Given the description of an element on the screen output the (x, y) to click on. 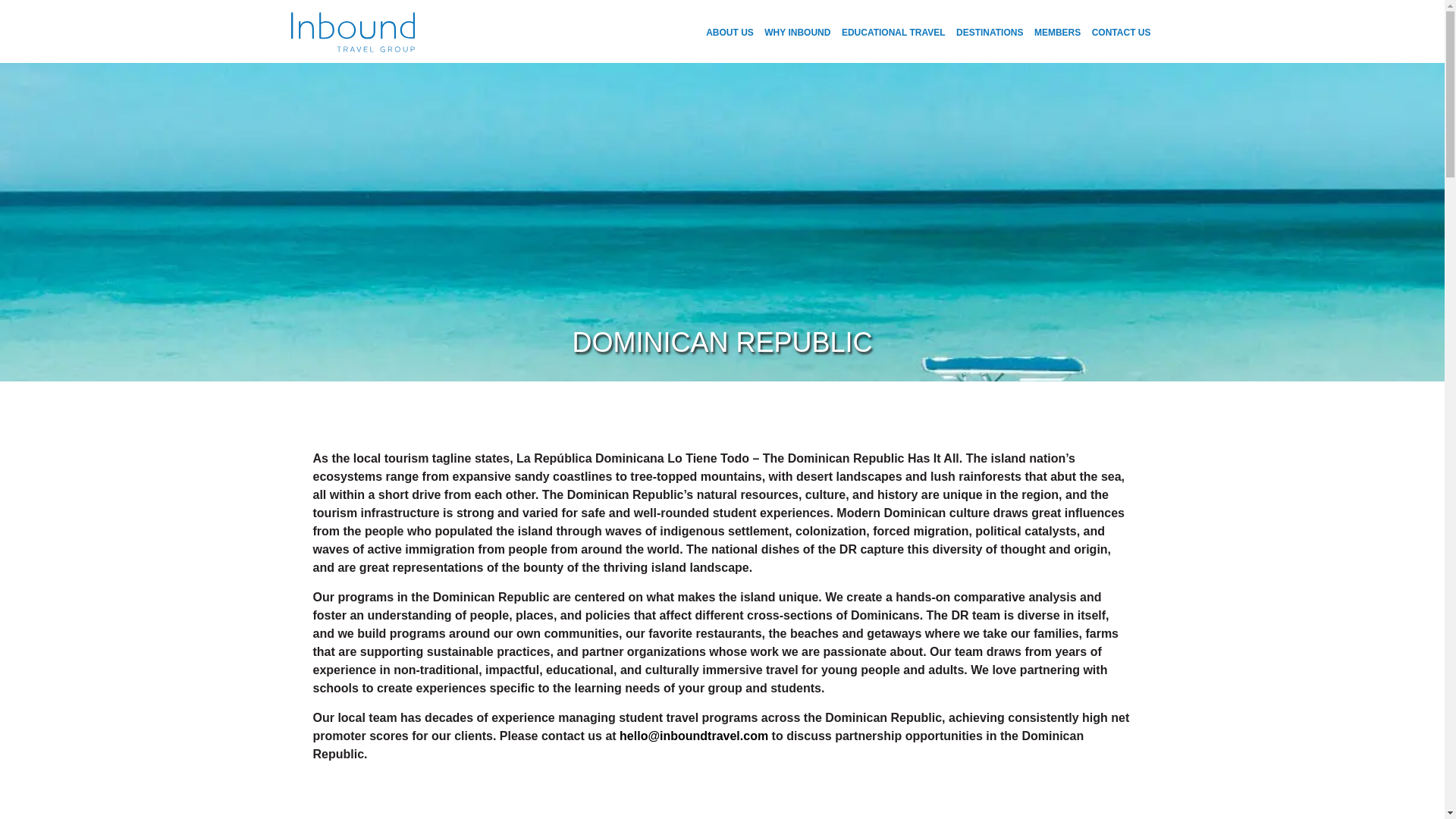
WHY INBOUND (796, 32)
DESTINATIONS (989, 32)
EDUCATIONAL TRAVEL (892, 32)
ABOUT US (730, 32)
MEMBERS (1056, 32)
CONTACT US (1121, 32)
